Given the description of an element on the screen output the (x, y) to click on. 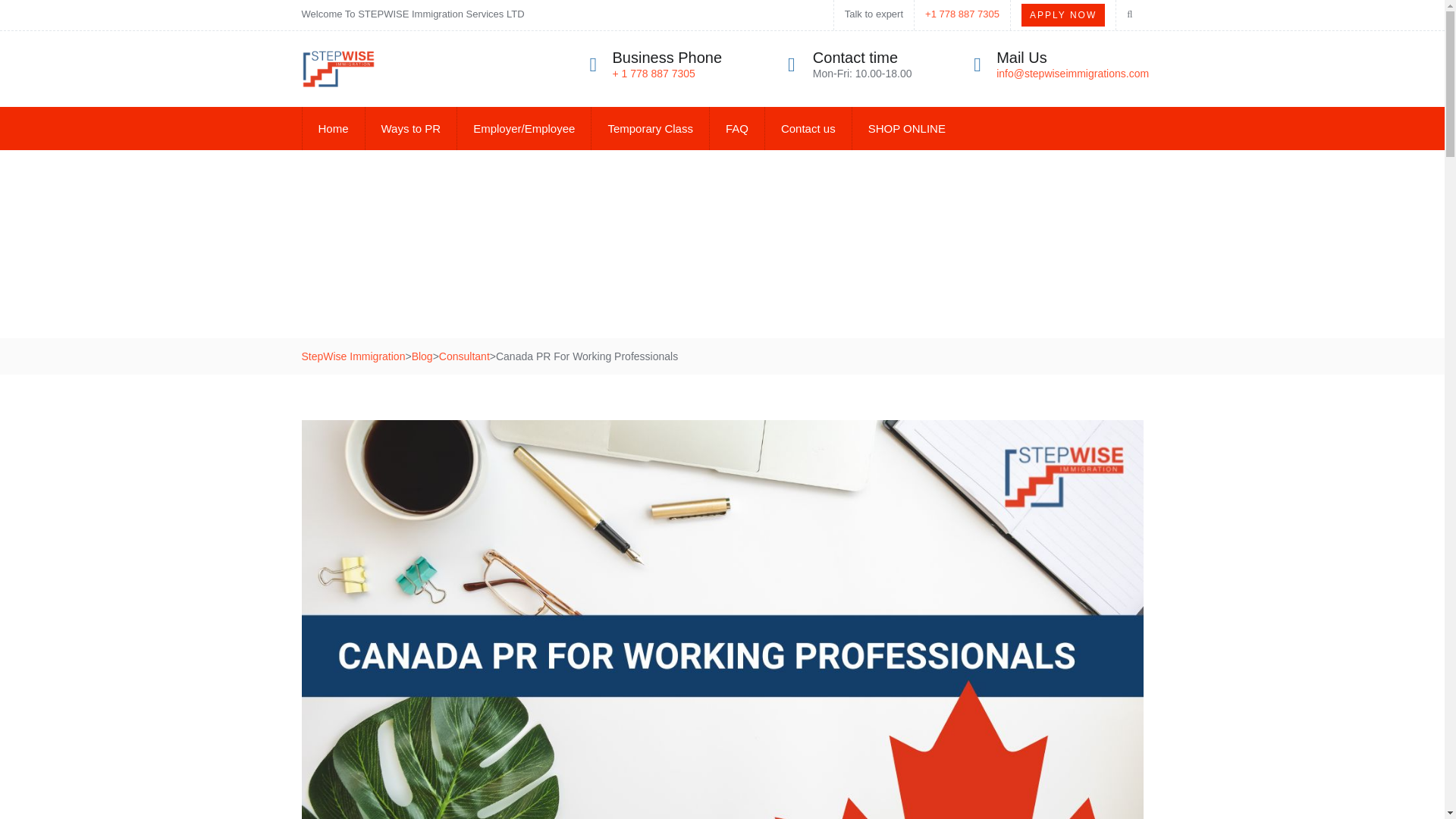
Go to the Consultant Category archives. (464, 356)
Temporary Class (650, 128)
Home (333, 128)
Ways to PR (411, 128)
Go to StepWise Immigration. (353, 356)
Go to Blog. (422, 356)
APPLY NOW (1063, 15)
